Given the description of an element on the screen output the (x, y) to click on. 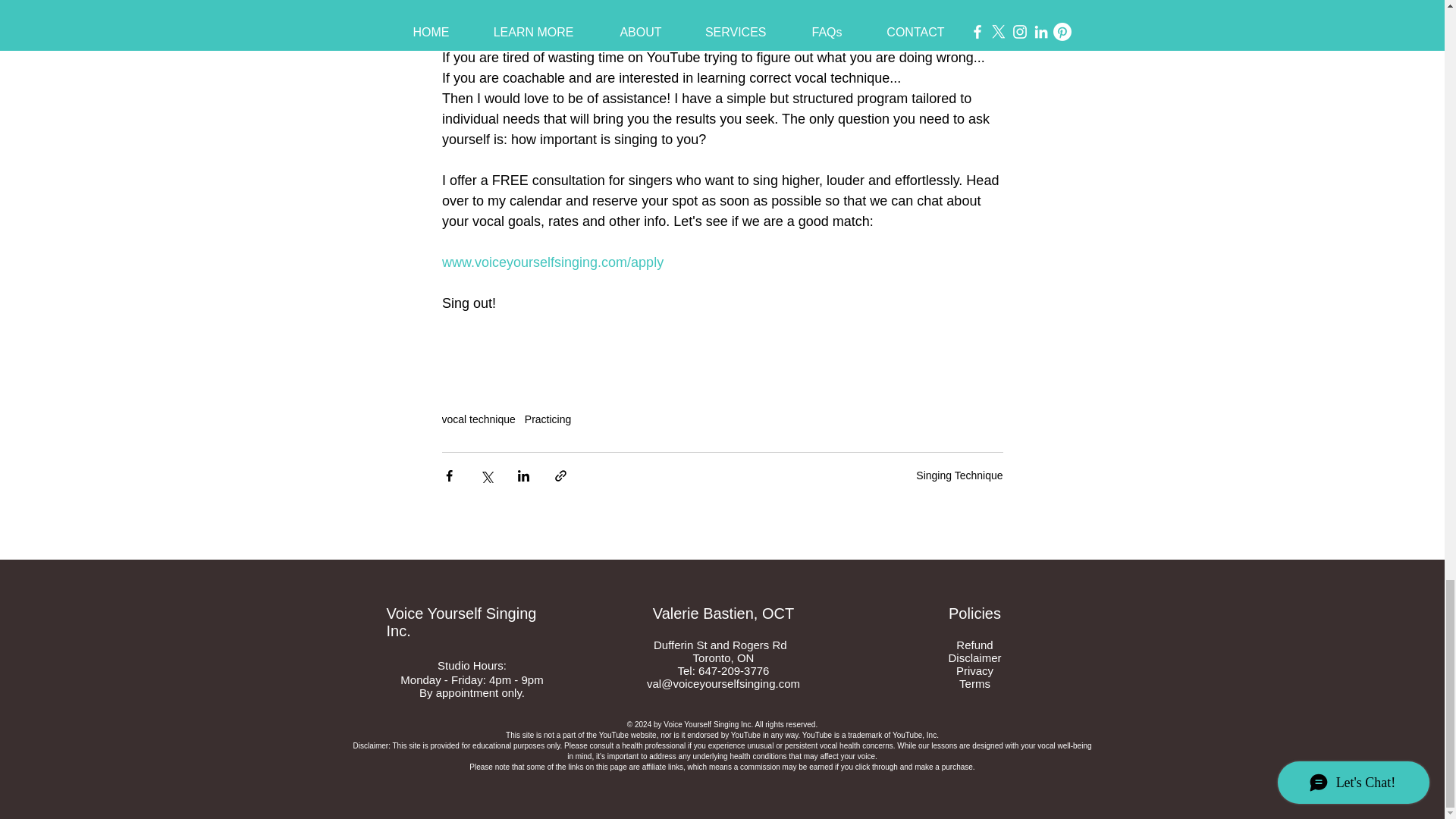
Singing Technique (959, 475)
vocal technique (478, 419)
Practicing (547, 419)
Privacy (974, 670)
Disclaimer (974, 657)
Terms (974, 683)
Refund (974, 644)
